Given the description of an element on the screen output the (x, y) to click on. 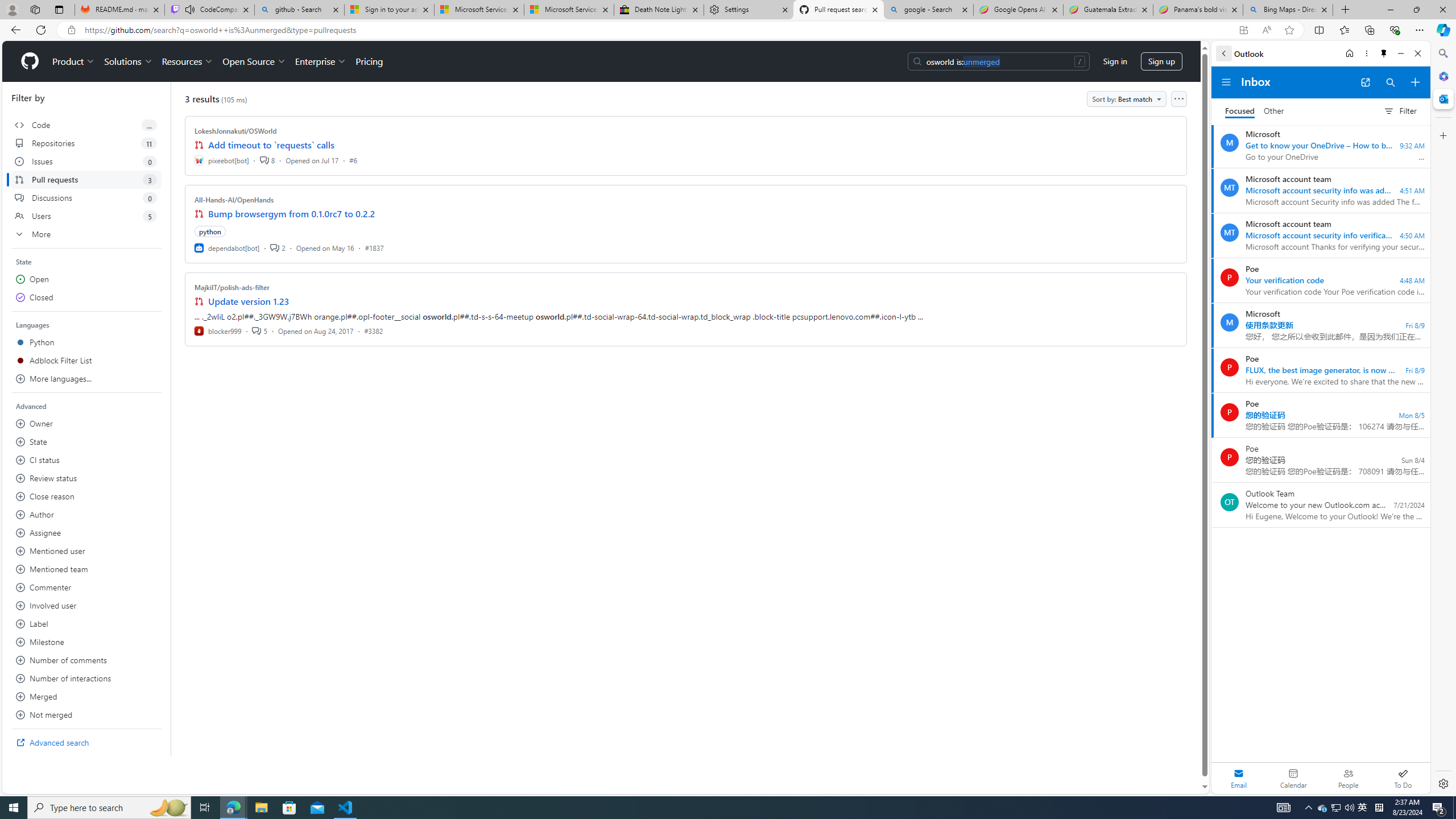
More languages... (86, 378)
8 (267, 159)
Enterprise (319, 60)
